Given the description of an element on the screen output the (x, y) to click on. 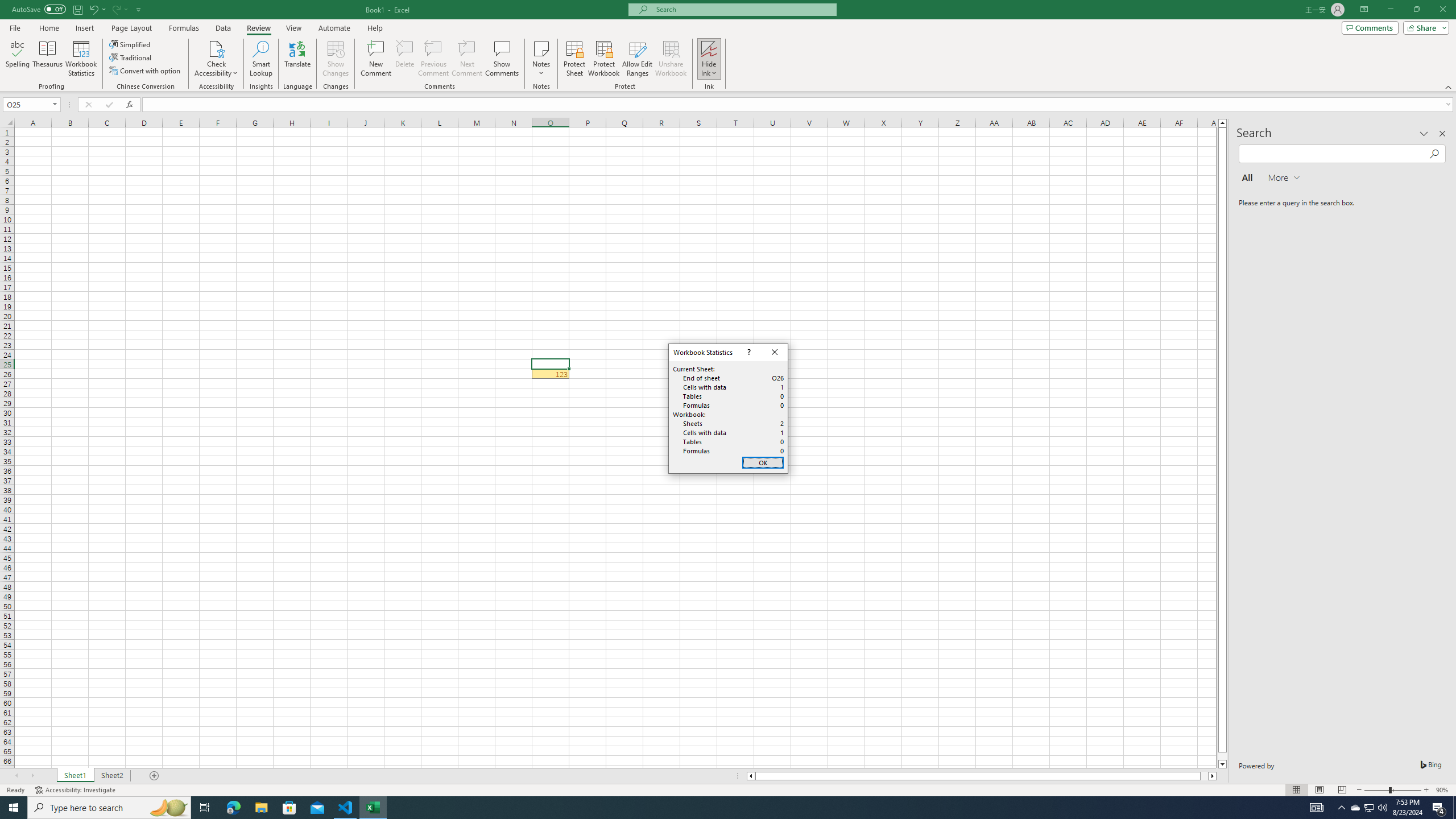
Show Changes (335, 58)
Type here to search (108, 807)
New Comment (376, 58)
Spelling... (17, 58)
User Promoted Notification Area (1368, 807)
Convert with option (145, 69)
